Given the description of an element on the screen output the (x, y) to click on. 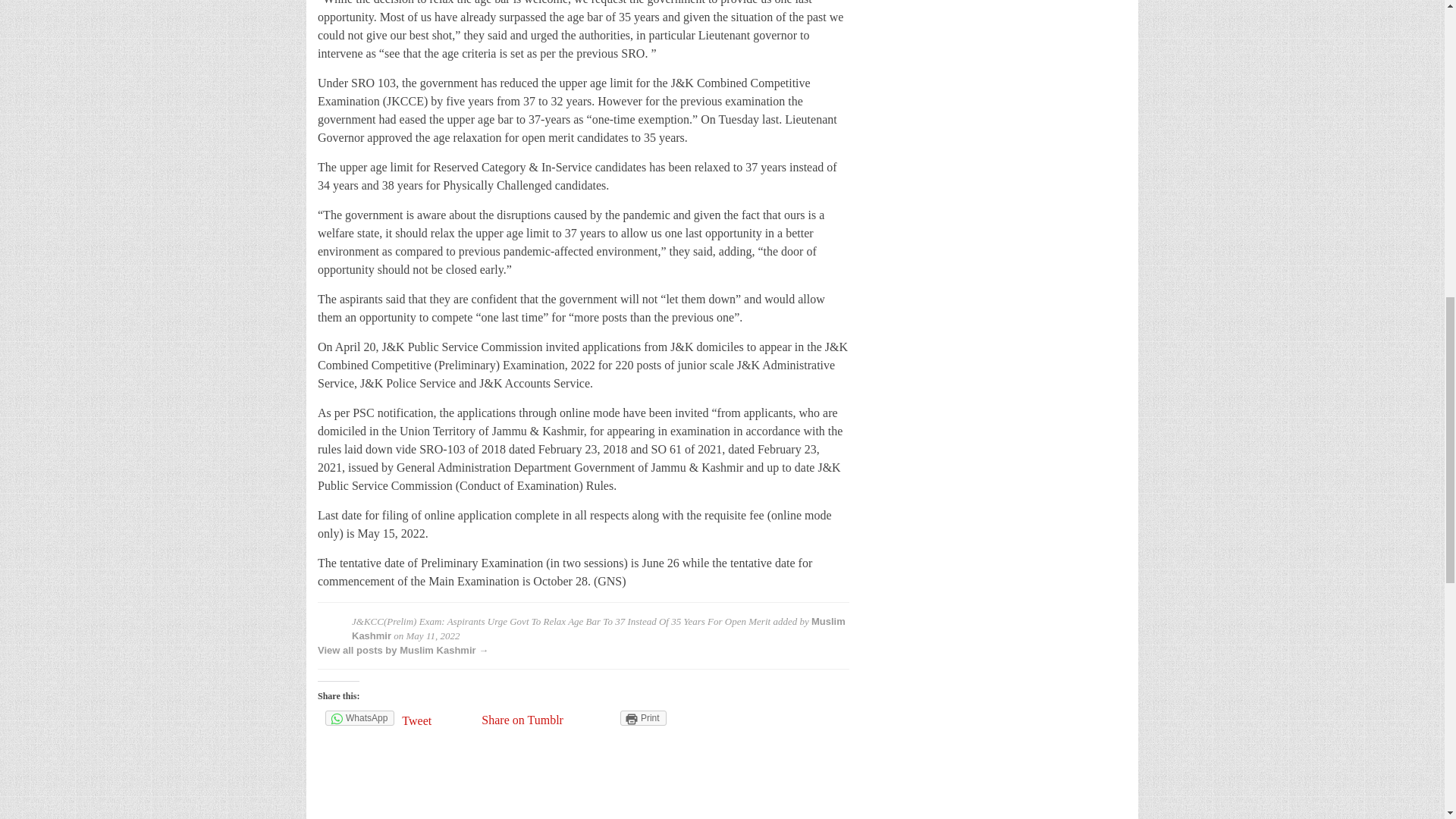
Click to share on WhatsApp (359, 717)
WhatsApp (359, 717)
Click to print (643, 717)
Tweet (437, 720)
Print (643, 717)
Muslim Kashmir (598, 628)
Share on Tumblr (522, 719)
Share on Tumblr (522, 719)
